Given the description of an element on the screen output the (x, y) to click on. 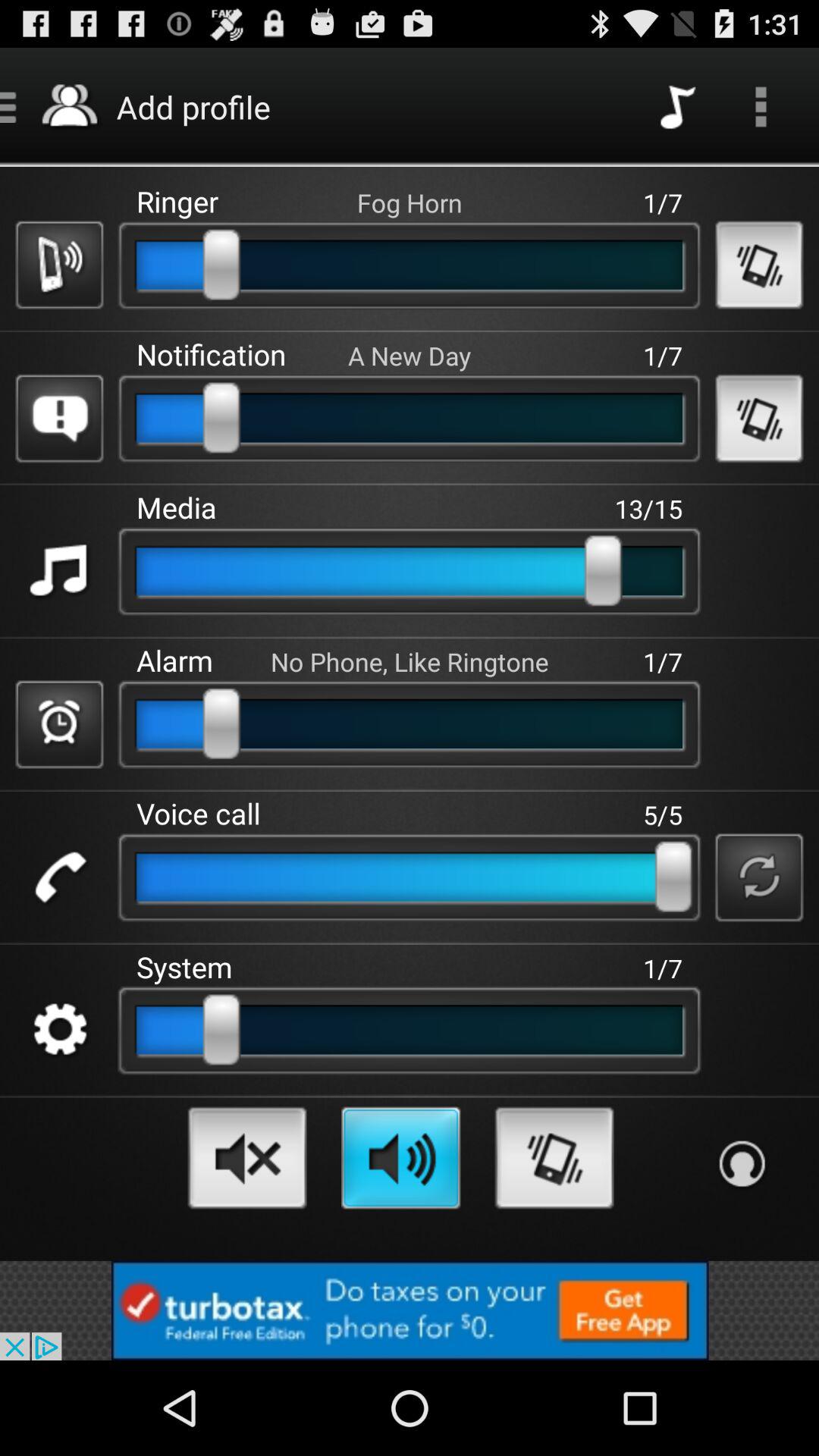
open alarm (59, 724)
